Given the description of an element on the screen output the (x, y) to click on. 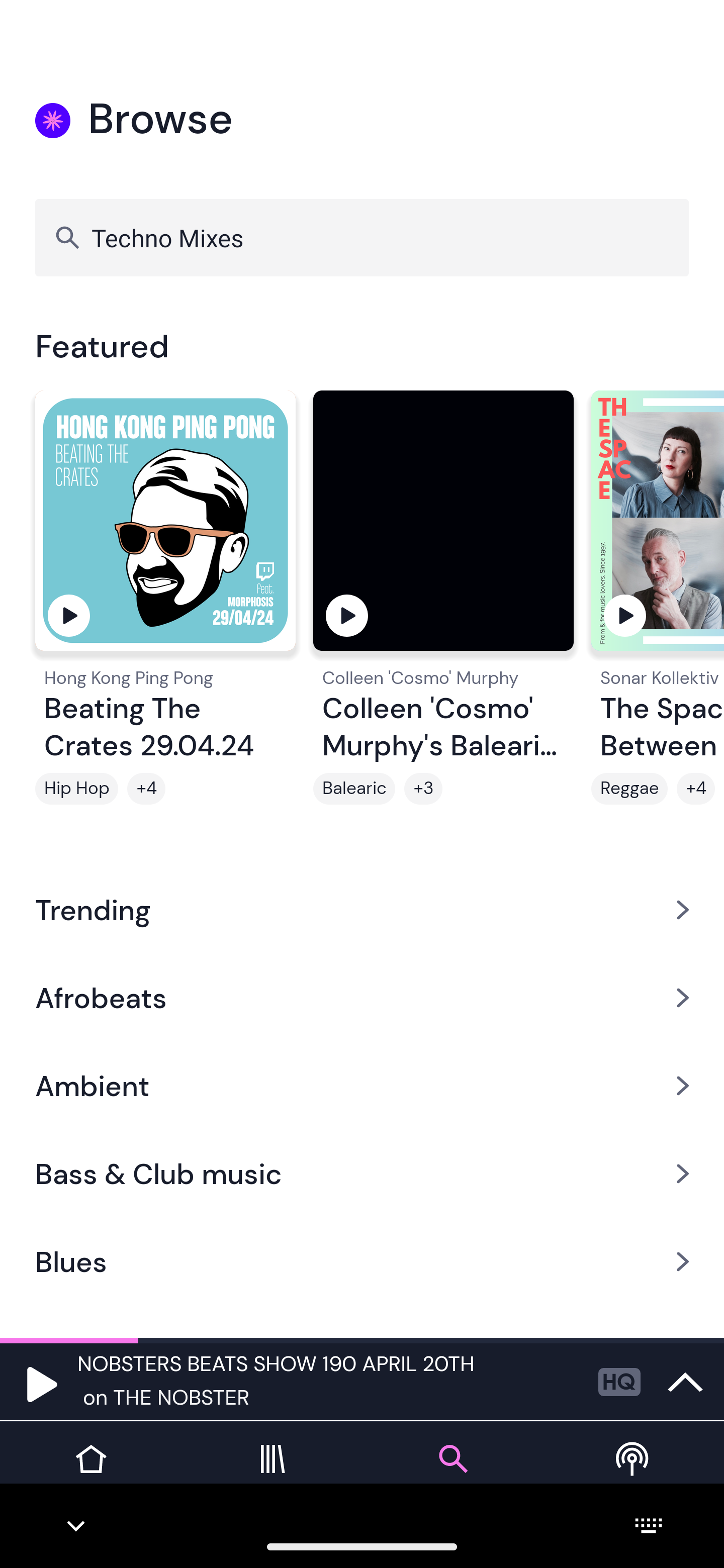
Techno Mixes (361, 237)
Hip Hop (76, 788)
Balearic (354, 788)
Reggae (629, 788)
Trending (361, 909)
Afrobeats (361, 997)
Ambient (361, 1085)
Bass & Club music (361, 1174)
Blues (361, 1262)
Home tab (90, 1473)
Library tab (271, 1473)
Browse tab (452, 1473)
Live tab (633, 1473)
